Given the description of an element on the screen output the (x, y) to click on. 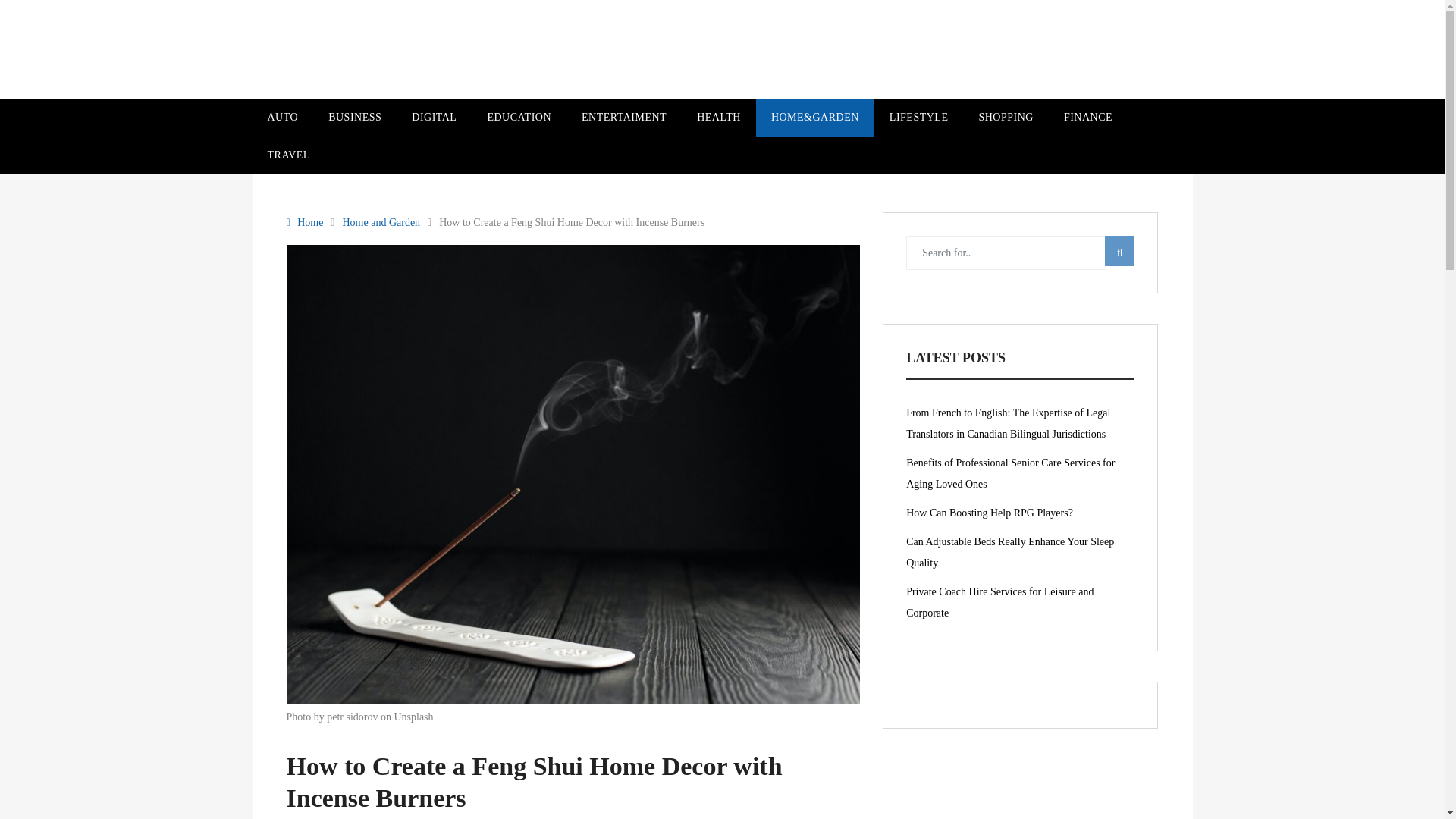
SHOPPING (1005, 117)
FINANCE (1087, 117)
HEALTH (718, 117)
Home (308, 222)
DIGITAL (433, 117)
BUSINESS (354, 117)
AUTO (282, 117)
EDUCATION (518, 117)
TRAVEL (287, 155)
Home and Garden (385, 222)
ENTERTAIMENT (623, 117)
LIFESTYLE (919, 117)
